Given the description of an element on the screen output the (x, y) to click on. 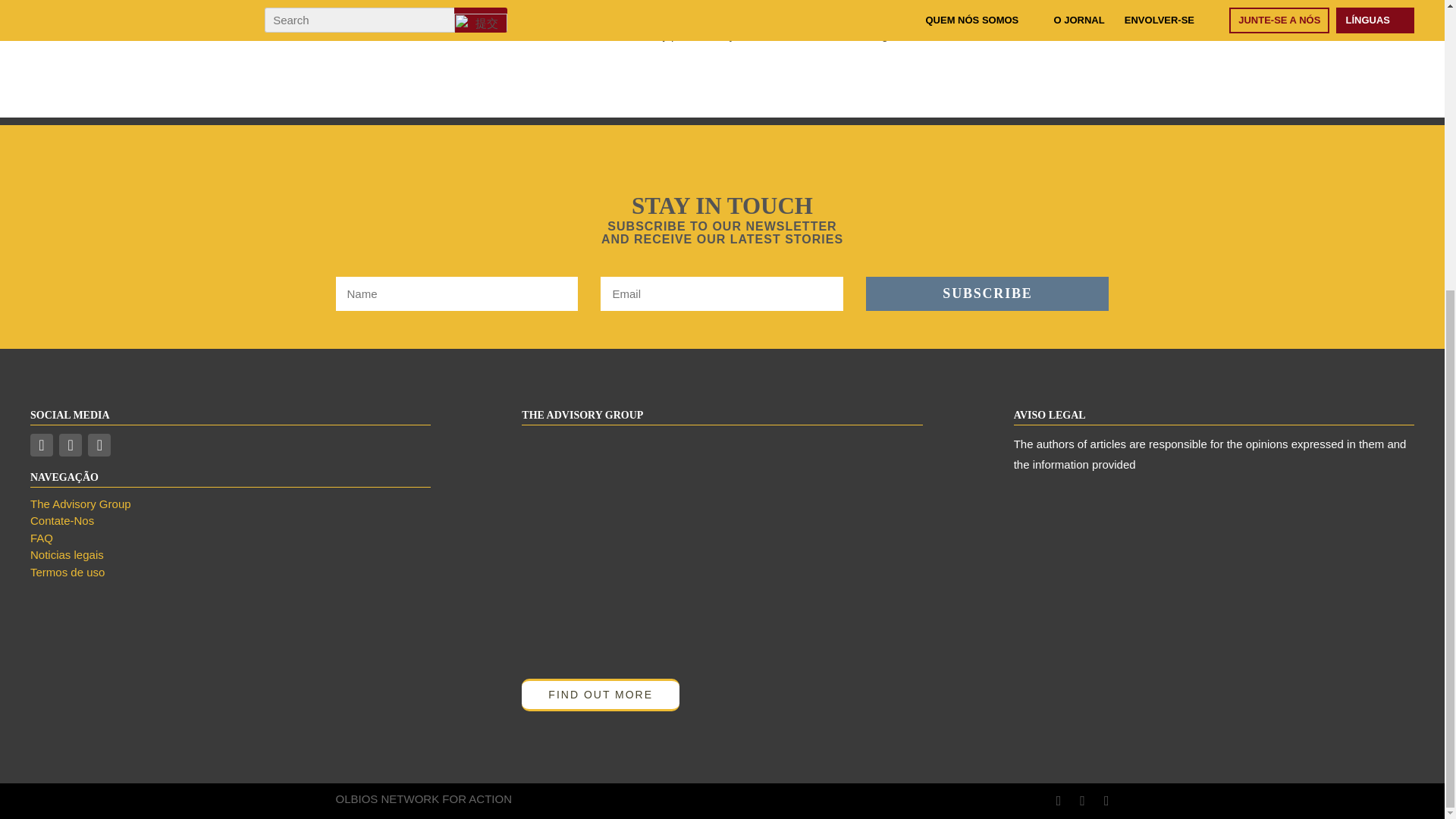
Subscribe (987, 293)
